Given the description of an element on the screen output the (x, y) to click on. 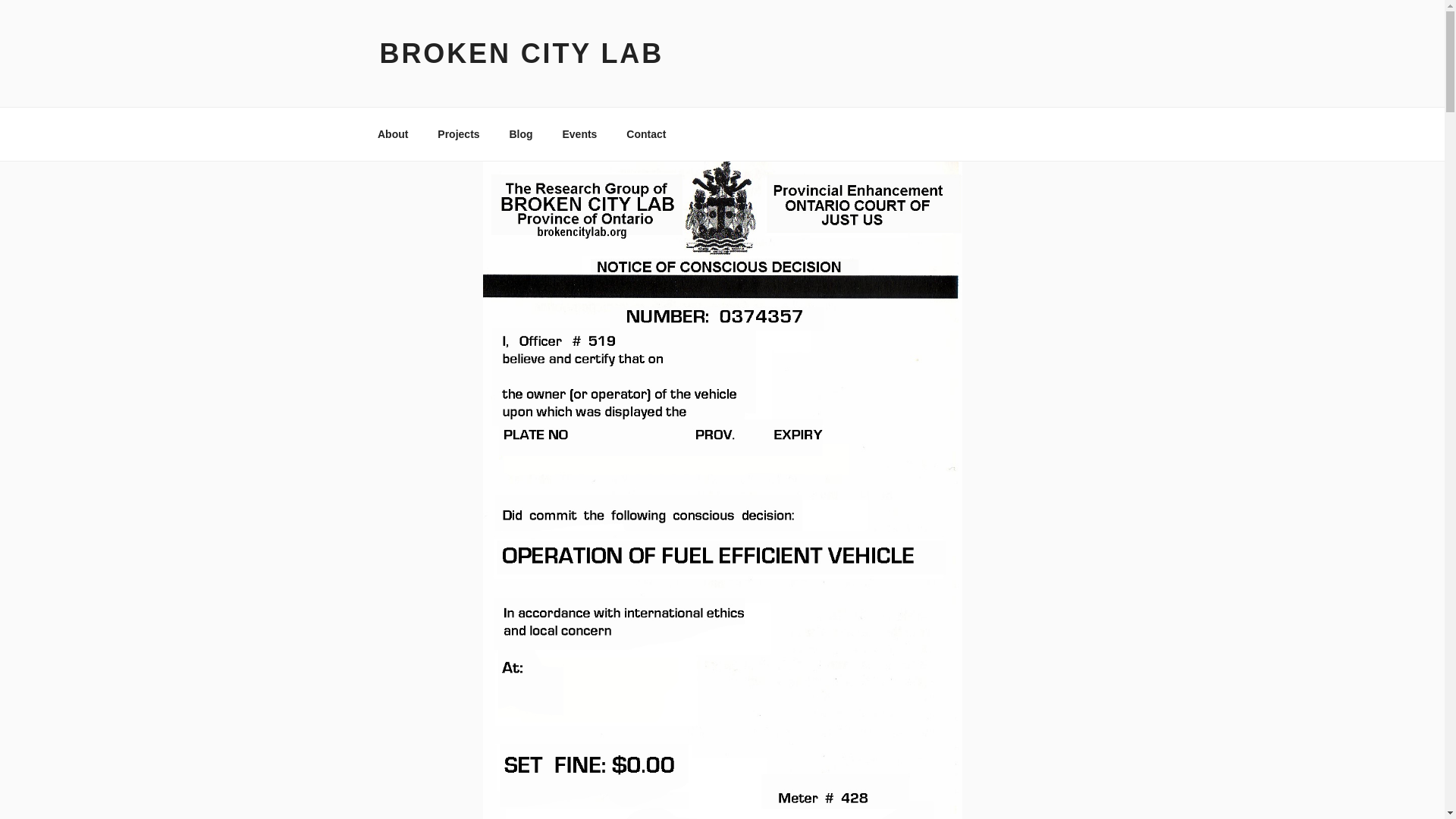
Projects (459, 133)
Events (579, 133)
About (392, 133)
Blog (521, 133)
Contact (645, 133)
BROKEN CITY LAB (520, 52)
